Given the description of an element on the screen output the (x, y) to click on. 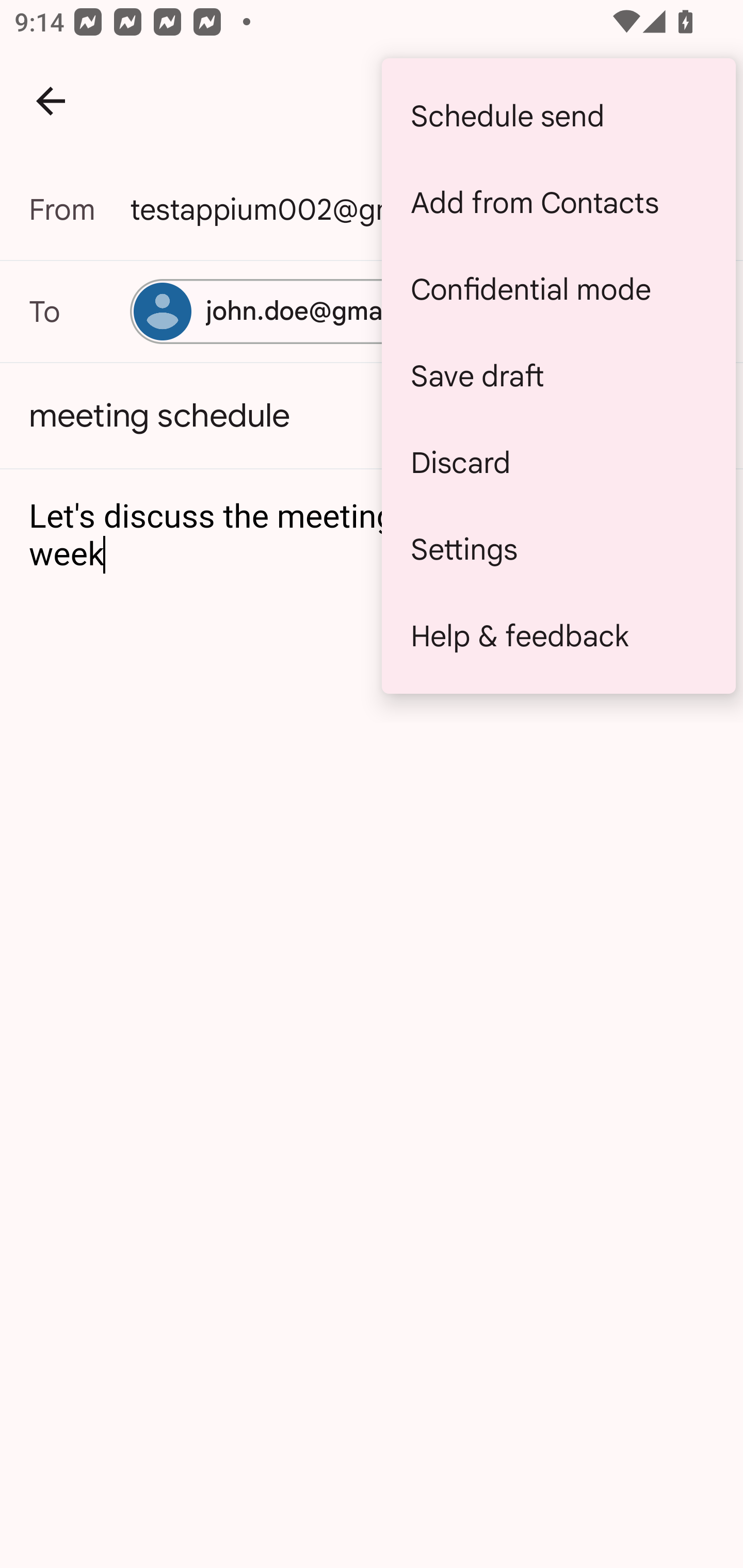
Schedule send (558, 115)
Add from Contacts (558, 202)
Confidential mode (558, 289)
Save draft (558, 375)
Discard (558, 462)
Settings (558, 549)
Help & feedback (558, 635)
